Given the description of an element on the screen output the (x, y) to click on. 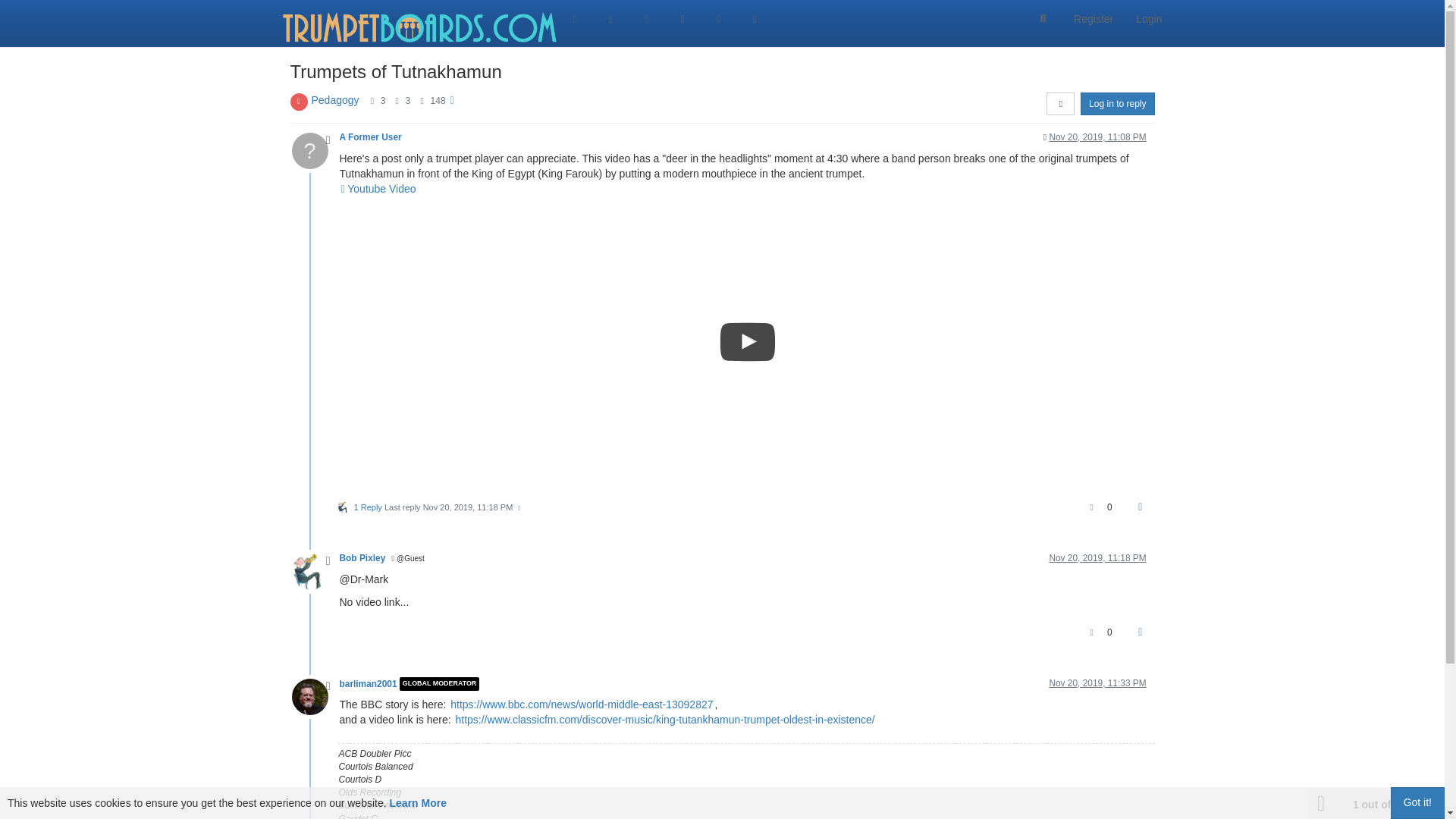
Login (1148, 18)
Register (1093, 18)
Log in to reply (1117, 103)
A Former User (370, 136)
? (315, 150)
Nov 20, 2019, 11:08 PM (1096, 136)
Youtube Video (378, 188)
Pedagogy (334, 100)
Search (1042, 18)
